Given the description of an element on the screen output the (x, y) to click on. 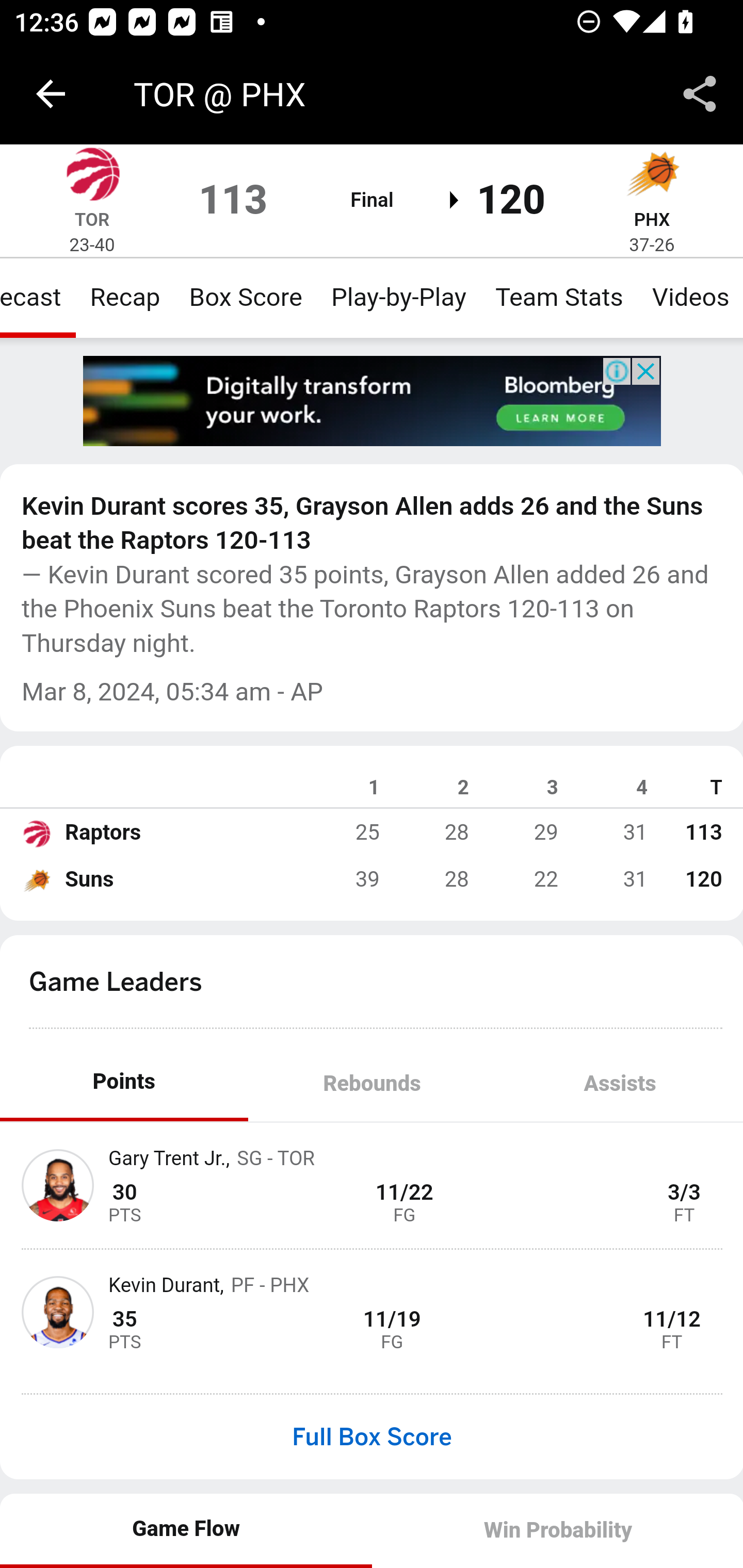
Navigate up (50, 93)
Share (699, 93)
Toronto Raptors (91, 173)
Phoenix Suns (651, 173)
TOR (91, 219)
PHX (651, 219)
Gamecast (37, 296)
Recap (123, 296)
Box Score (245, 296)
Play-by-Play (398, 296)
Team Stats (559, 296)
Videos (689, 296)
Toronto Raptors (36, 832)
Phoenix Suns (36, 879)
Points (124, 1081)
Rebounds (371, 1084)
Assists (618, 1084)
Full Box Score (371, 1436)
Game Flow (186, 1528)
Win Probability (557, 1529)
